Given the description of an element on the screen output the (x, y) to click on. 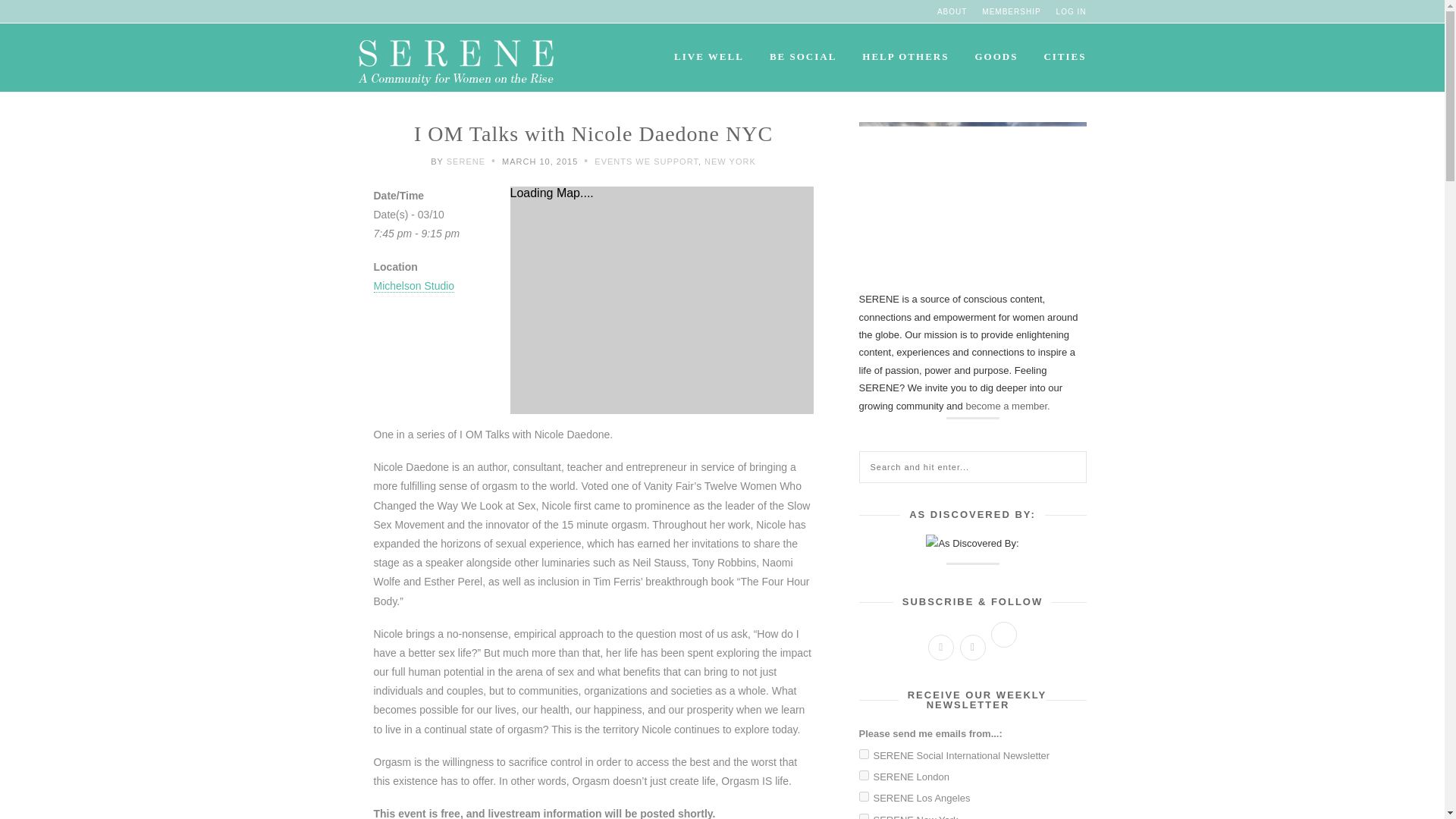
Posts by SERENE (465, 161)
Serene Social memberships (1003, 11)
EVENTS WE SUPPORT (646, 161)
HELP OTHERS (905, 56)
MEMBERSHIP (1003, 11)
become a member. (1007, 405)
LIVE WELL (709, 56)
SERENE (465, 161)
Michelson Studio (413, 286)
SERENE New York (863, 816)
View all posts in New York (729, 161)
SERENE London (863, 775)
SERENE Los Angeles (863, 796)
SERENE Social International Newsletter (863, 754)
Michelson Studio (413, 286)
